Given the description of an element on the screen output the (x, y) to click on. 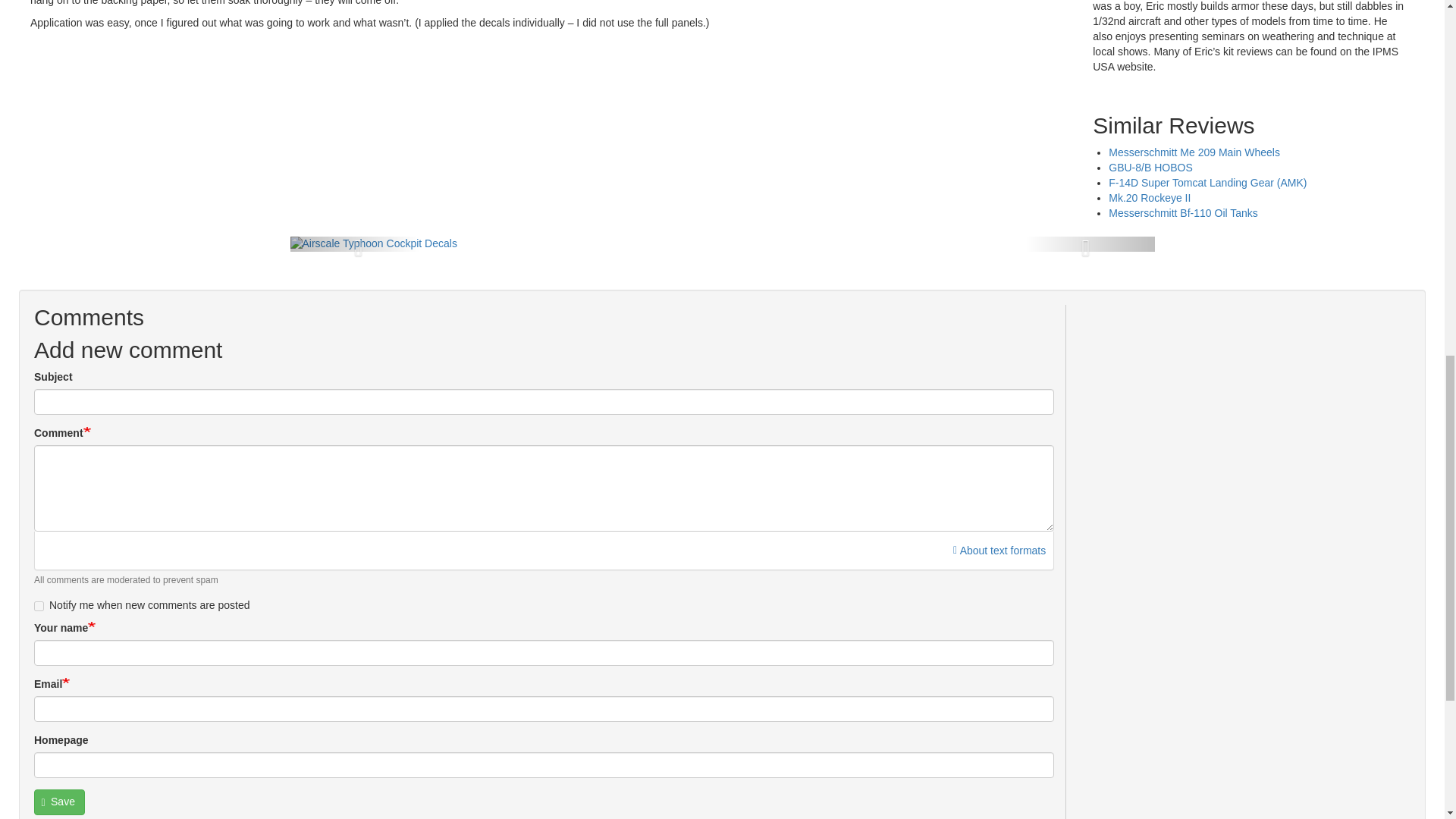
Messerschmitt Me 209 Main Wheels (1193, 152)
Airscale Typhoon Cockpit Decals (373, 243)
Airscale Typhoon Cockpit Decals (373, 243)
1 (38, 605)
Messerschmitt Bf-110 Oil Tanks (1182, 213)
Mk.20 Rockeye II (1149, 197)
